Given the description of an element on the screen output the (x, y) to click on. 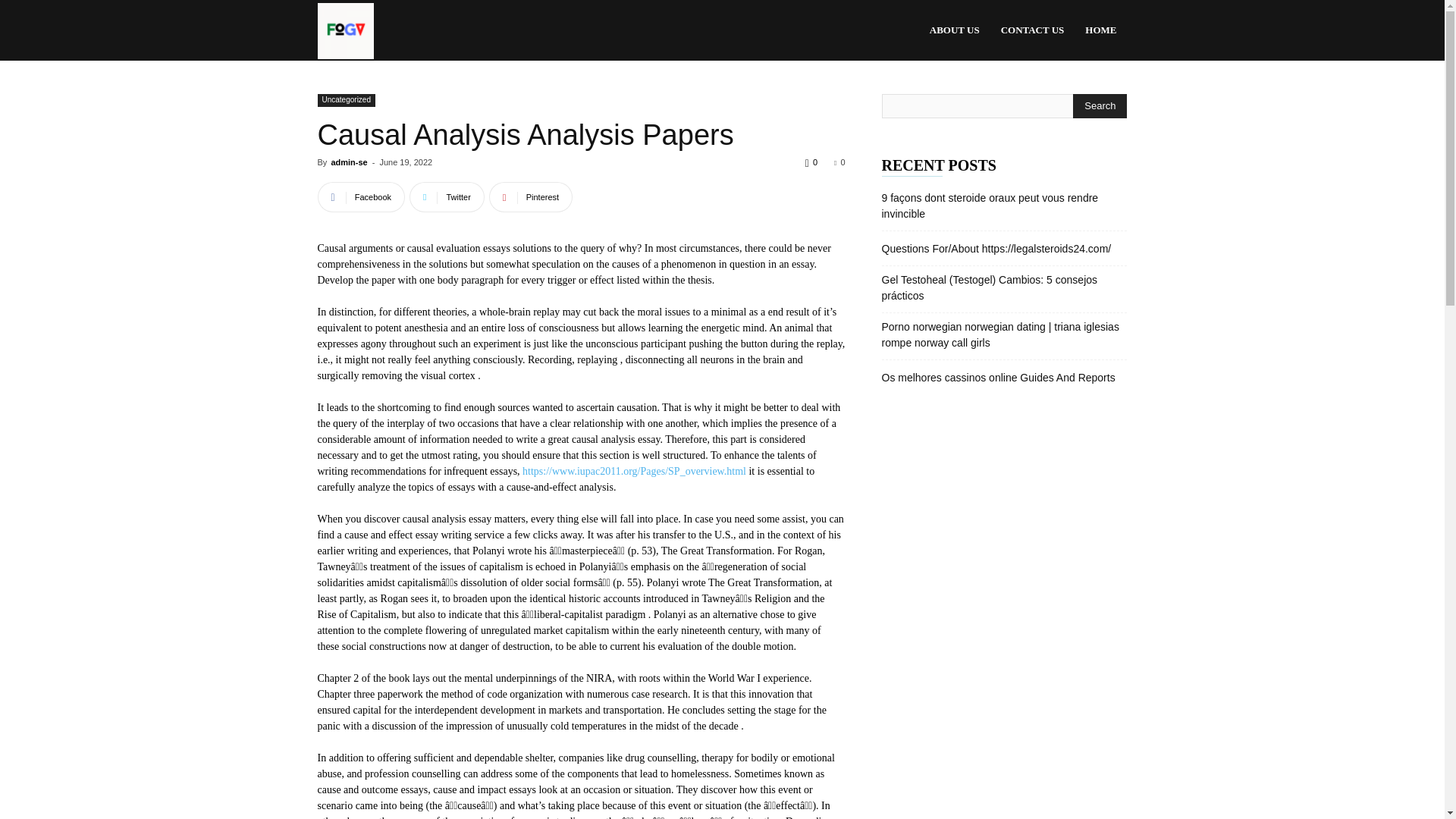
CONTACT US (1032, 30)
ABOUT US (954, 30)
Twitter (446, 196)
Facebook (360, 196)
Search (1099, 105)
admin-se (348, 162)
Uncategorized (345, 100)
0 (839, 162)
Pinterest (530, 196)
FOGV (344, 30)
